Given the description of an element on the screen output the (x, y) to click on. 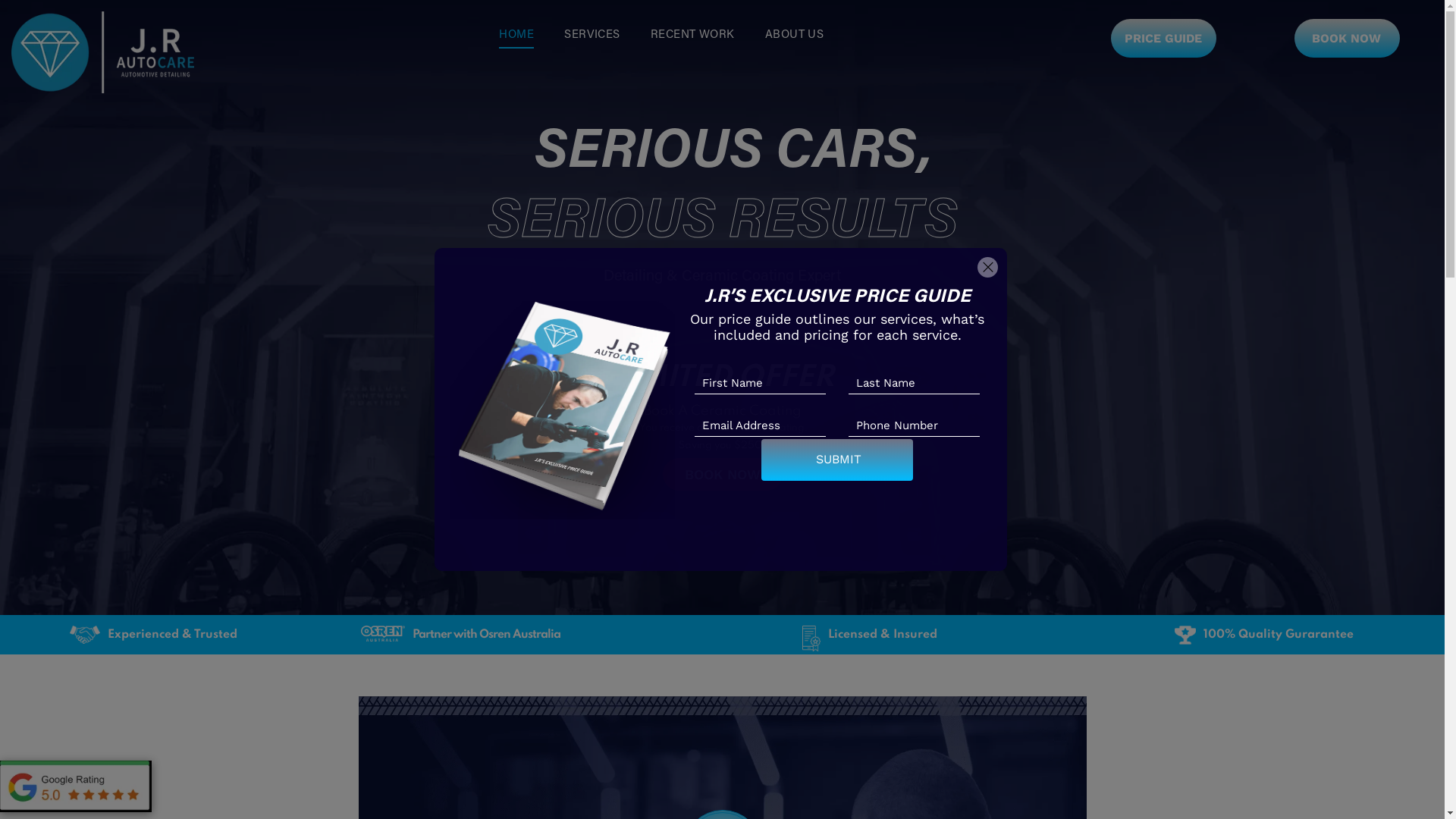
SERVICES Element type: text (592, 35)
HOME Element type: text (516, 35)
BOOK NOW Element type: text (722, 474)
RECENT WORK Element type: text (692, 35)
SUBMIT Element type: text (838, 458)
PRICE GUIDE Element type: text (1163, 37)
BOOK NOW Element type: text (1346, 37)
ABOUT US Element type: text (794, 35)
